Given the description of an element on the screen output the (x, y) to click on. 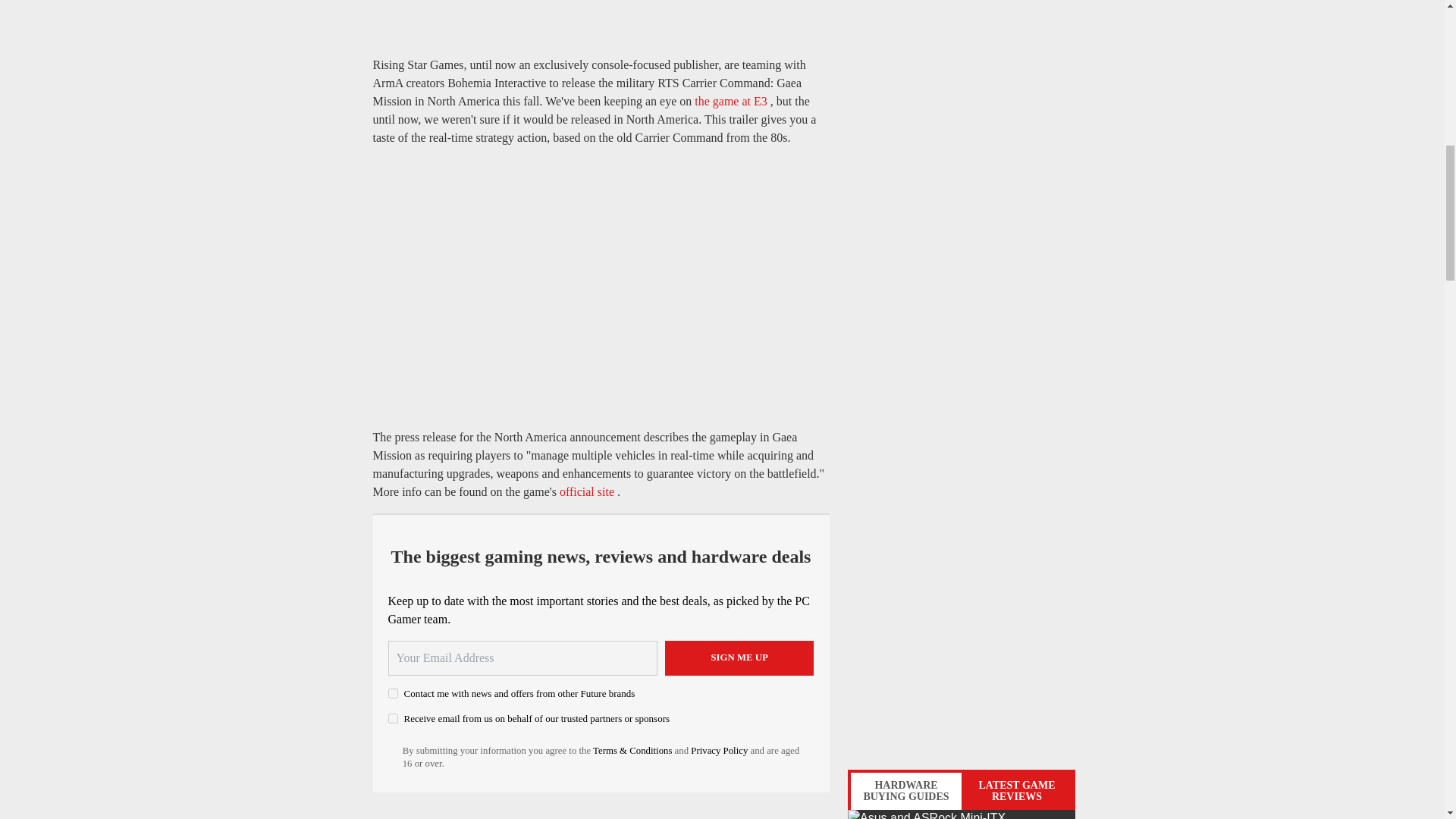
on (392, 693)
Sign me up (739, 657)
on (392, 718)
